Given the description of an element on the screen output the (x, y) to click on. 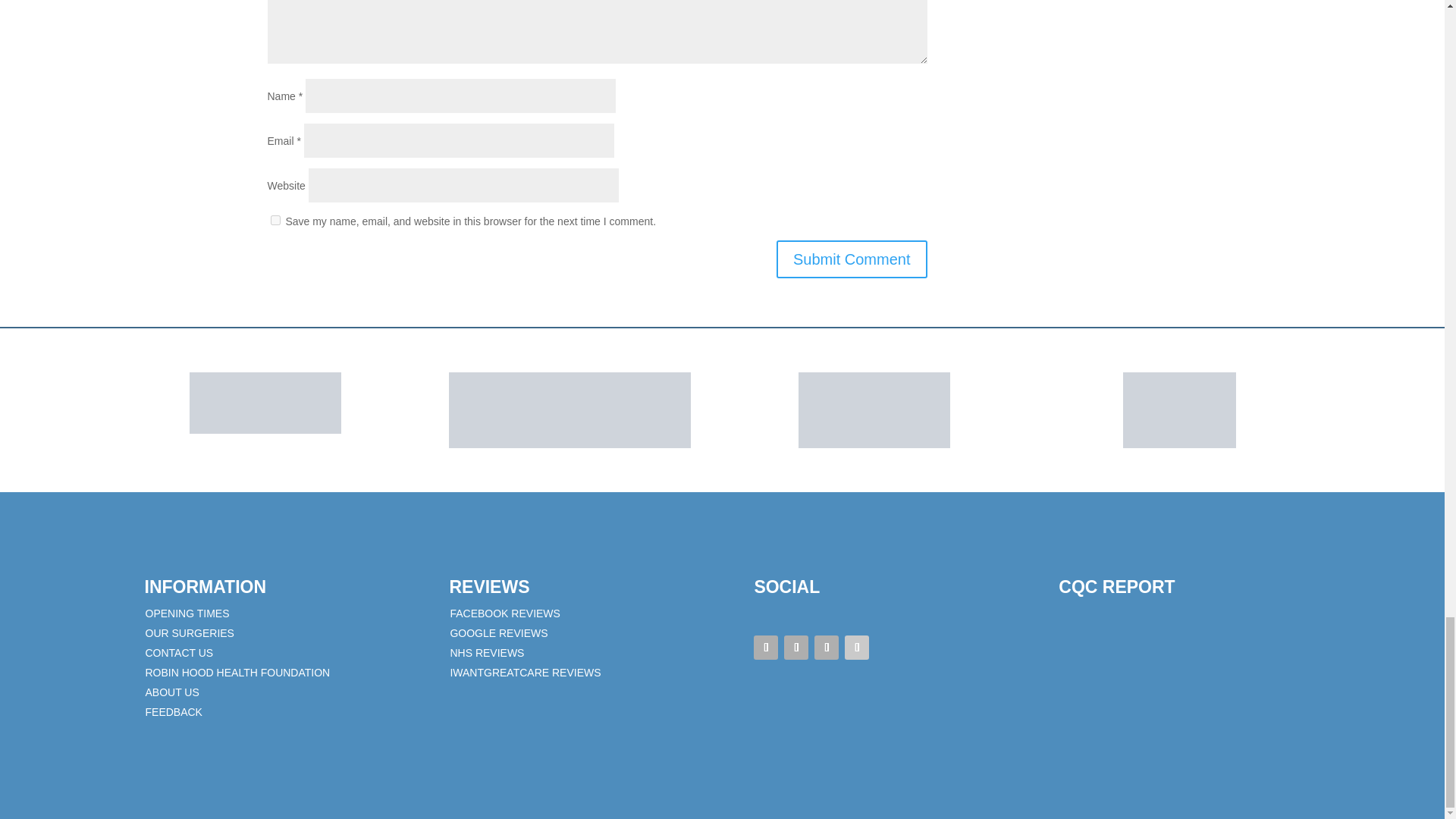
yes (274, 220)
Submit Comment (851, 259)
rhhf (873, 409)
Follow on LinkedIn (856, 647)
Submit Comment (851, 259)
Follow on X (796, 647)
Follow on Facebook (765, 647)
nhs (264, 403)
Follow on Instagram (825, 647)
